Given the description of an element on the screen output the (x, y) to click on. 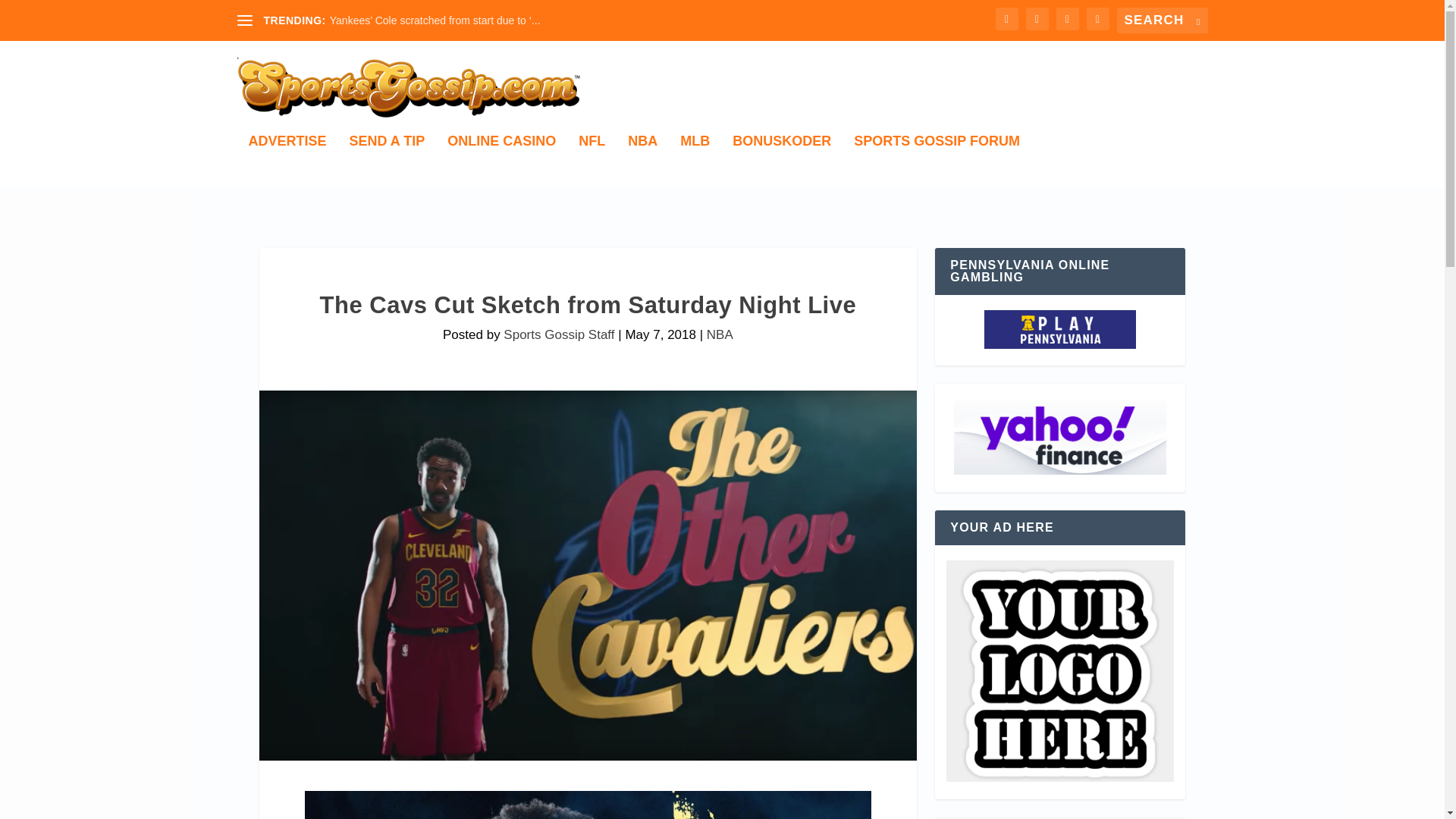
BONUSKODER (781, 161)
SEND A TIP (387, 161)
ADVERTISE (287, 161)
ONLINE CASINO (501, 161)
NBA (719, 334)
Casinos Not on Gamstop (1059, 437)
Sports Gossip Staff (558, 334)
Search for: (1161, 20)
Posts by Sports Gossip Staff (558, 334)
SPORTS GOSSIP FORUM (936, 161)
